Given the description of an element on the screen output the (x, y) to click on. 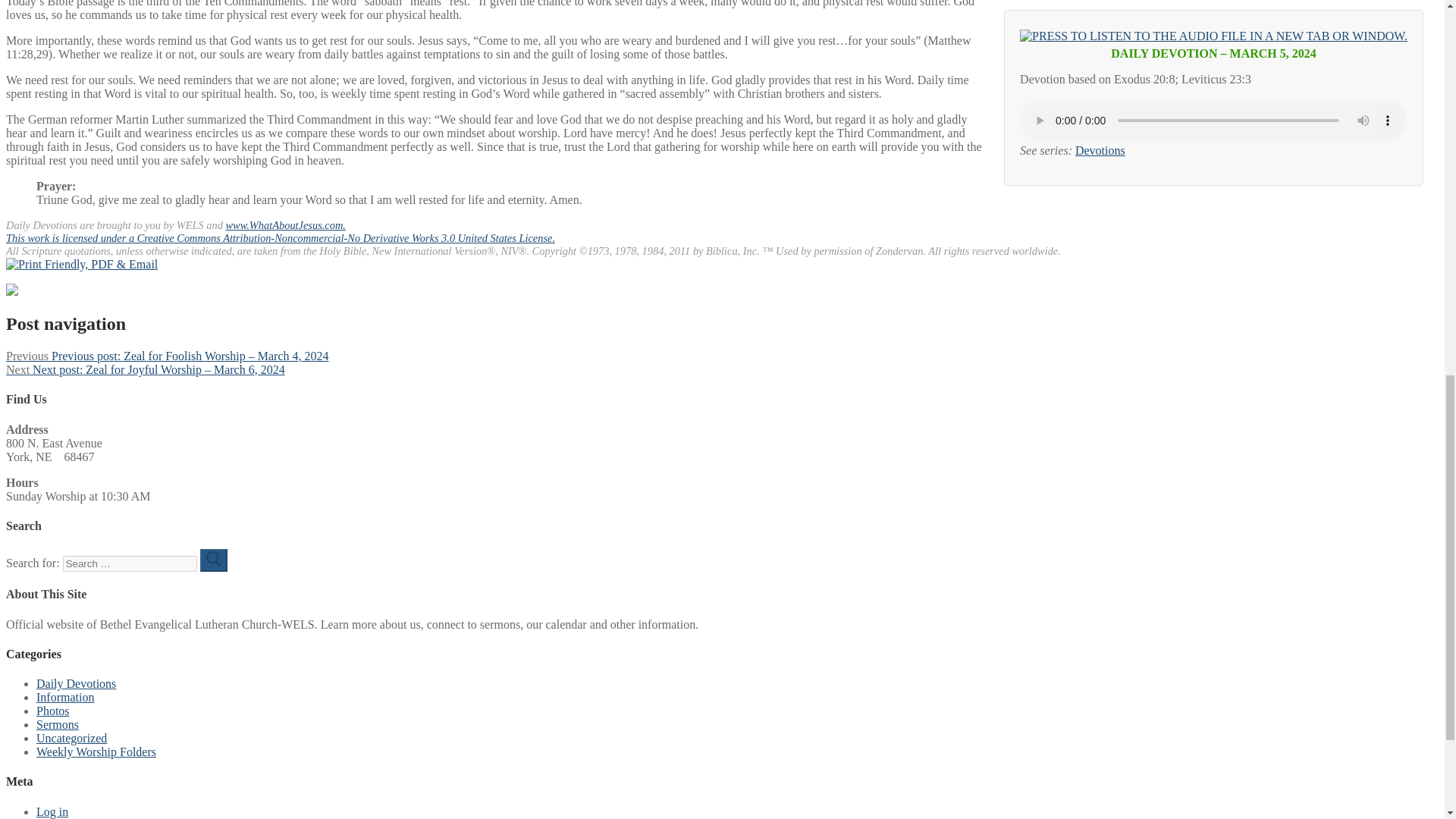
WhatAboutJesus.com (285, 224)
Creative Commons (279, 237)
Devotions (1100, 150)
www.WhatAboutJesus.com. (285, 224)
Search for: (129, 563)
